Given the description of an element on the screen output the (x, y) to click on. 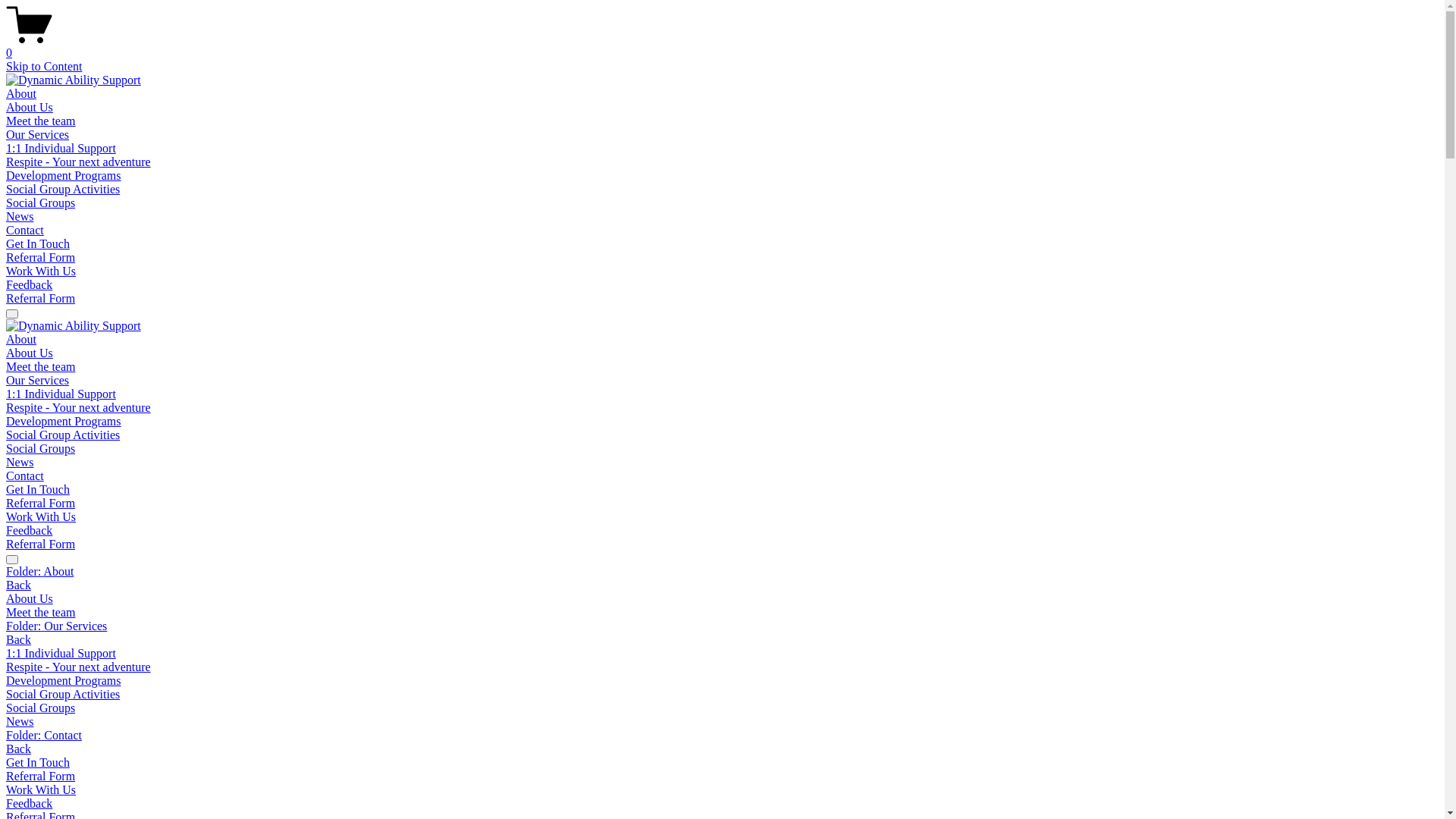
Folder: About Element type: text (722, 571)
Contact Element type: text (24, 475)
Referral Form Element type: text (40, 297)
Back Element type: text (18, 584)
About Us Element type: text (29, 352)
Development Programs Element type: text (63, 420)
News Element type: text (722, 721)
Get In Touch Element type: text (722, 762)
Respite - Your next adventure Element type: text (78, 161)
Referral Form Element type: text (722, 776)
About Us Element type: text (722, 598)
Respite - Your next adventure Element type: text (78, 407)
Meet the team Element type: text (40, 120)
About Element type: text (21, 338)
Get In Touch Element type: text (37, 243)
Social Groups Element type: text (40, 448)
Back Element type: text (18, 639)
Our Services Element type: text (37, 134)
Meet the team Element type: text (722, 612)
Contact Element type: text (24, 229)
Social Group Activities Element type: text (722, 694)
News Element type: text (19, 461)
Development Programs Element type: text (722, 680)
Referral Form Element type: text (40, 257)
Work With Us Element type: text (722, 790)
1:1 Individual Support Element type: text (61, 393)
Social Group Activities Element type: text (62, 434)
0 Element type: text (722, 45)
Back Element type: text (18, 748)
Folder: Our Services Element type: text (722, 626)
Meet the team Element type: text (40, 366)
News Element type: text (19, 216)
Referral Form Element type: text (40, 502)
Development Programs Element type: text (63, 175)
Feedback Element type: text (29, 284)
Folder: Contact Element type: text (722, 735)
Get In Touch Element type: text (37, 489)
1:1 Individual Support Element type: text (61, 147)
Social Groups Element type: text (722, 708)
Feedback Element type: text (29, 530)
Social Group Activities Element type: text (62, 188)
About Element type: text (21, 93)
Social Groups Element type: text (40, 202)
Work With Us Element type: text (40, 516)
Work With Us Element type: text (40, 270)
1:1 Individual Support Element type: text (722, 653)
Referral Form Element type: text (40, 543)
Our Services Element type: text (37, 379)
Respite - Your next adventure Element type: text (722, 667)
Skip to Content Element type: text (43, 65)
About Us Element type: text (29, 106)
Feedback Element type: text (722, 803)
